Given the description of an element on the screen output the (x, y) to click on. 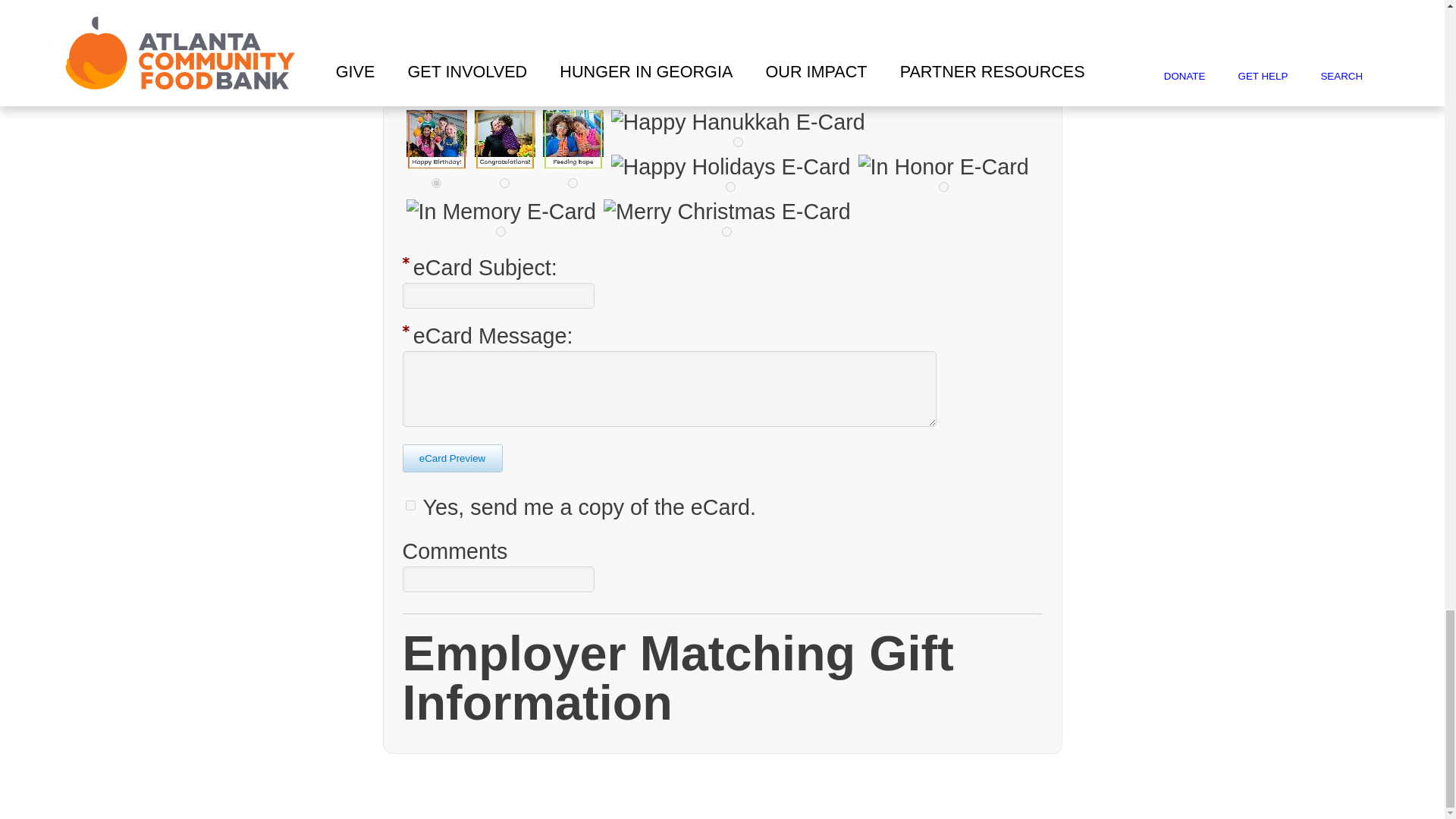
Reloads page.  (451, 458)
eCard Preview (451, 458)
4842 (435, 183)
